Given the description of an element on the screen output the (x, y) to click on. 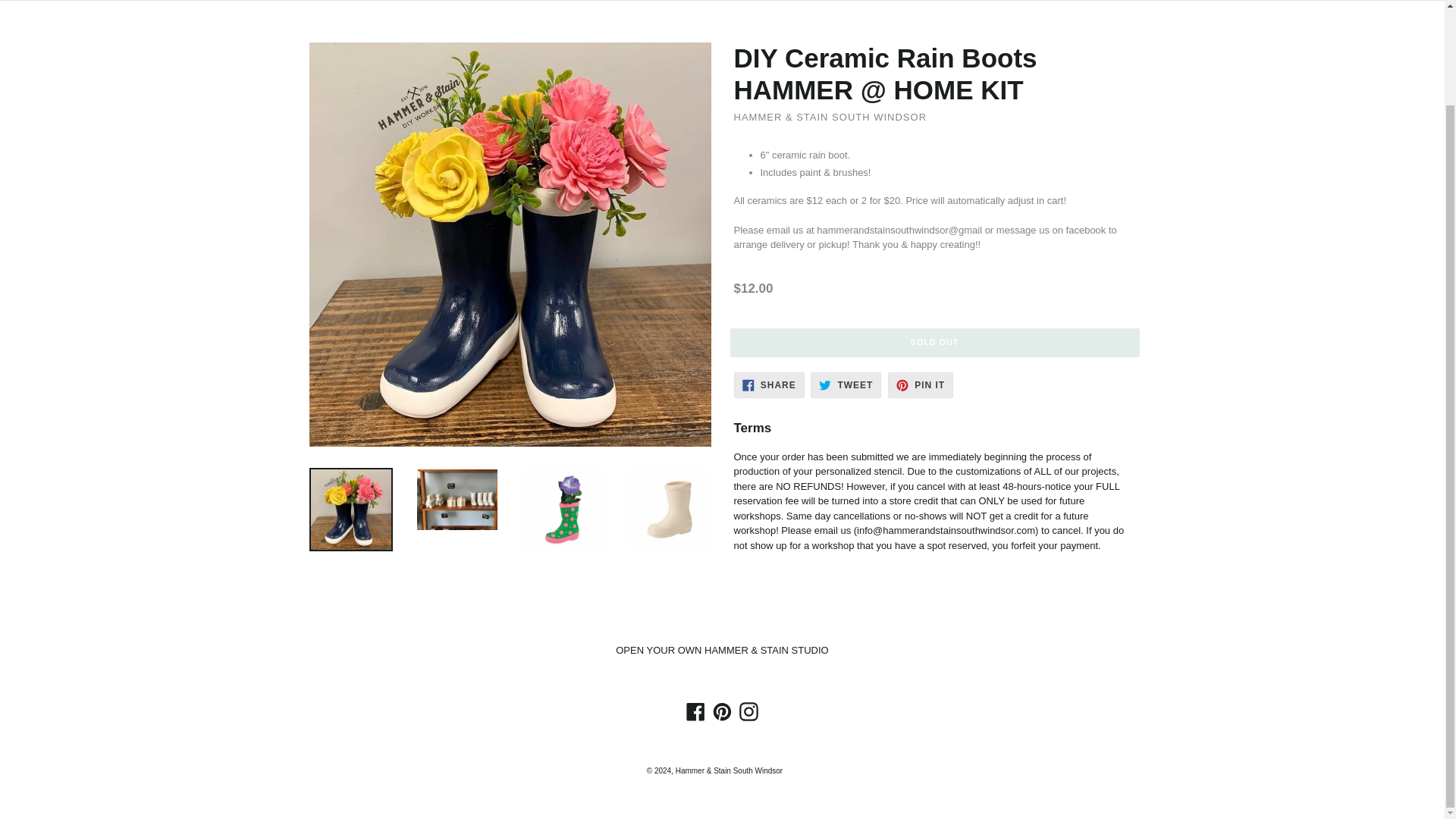
Share on Facebook (769, 385)
Pin on Pinterest (920, 385)
Tweet on Twitter (845, 385)
SOLD OUT (933, 342)
